Given the description of an element on the screen output the (x, y) to click on. 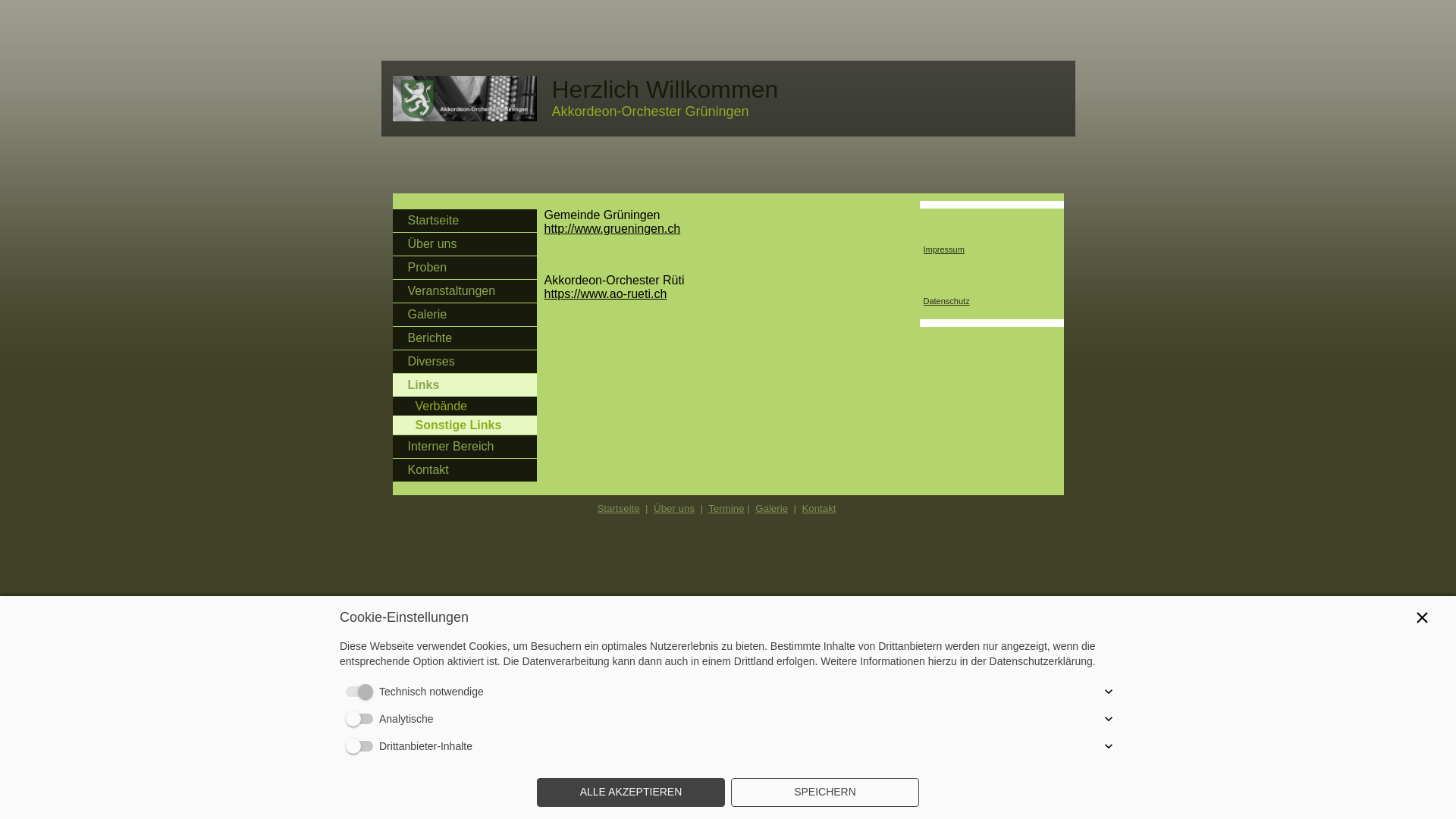
https://www.ao-rueti.ch Element type: text (605, 293)
Interner Bereich Element type: text (464, 446)
Links Element type: text (464, 384)
Impressum Element type: text (943, 249)
Sonstige Links Element type: text (464, 424)
Berichte Element type: text (464, 337)
Galerie Element type: text (771, 508)
SPEICHERN Element type: text (825, 792)
Kontakt Element type: text (464, 469)
ALLE AKZEPTIEREN Element type: text (630, 792)
Startseite Element type: text (617, 508)
Proben Element type: text (464, 267)
Datenschutz Element type: text (946, 300)
Diverses Element type: text (464, 361)
Kontakt Element type: text (818, 508)
Startseite Element type: text (464, 220)
http://www.grueningen.ch Element type: text (612, 228)
Galerie Element type: text (464, 314)
Veranstaltungen Element type: text (464, 290)
Termine Element type: text (725, 508)
